Given the description of an element on the screen output the (x, y) to click on. 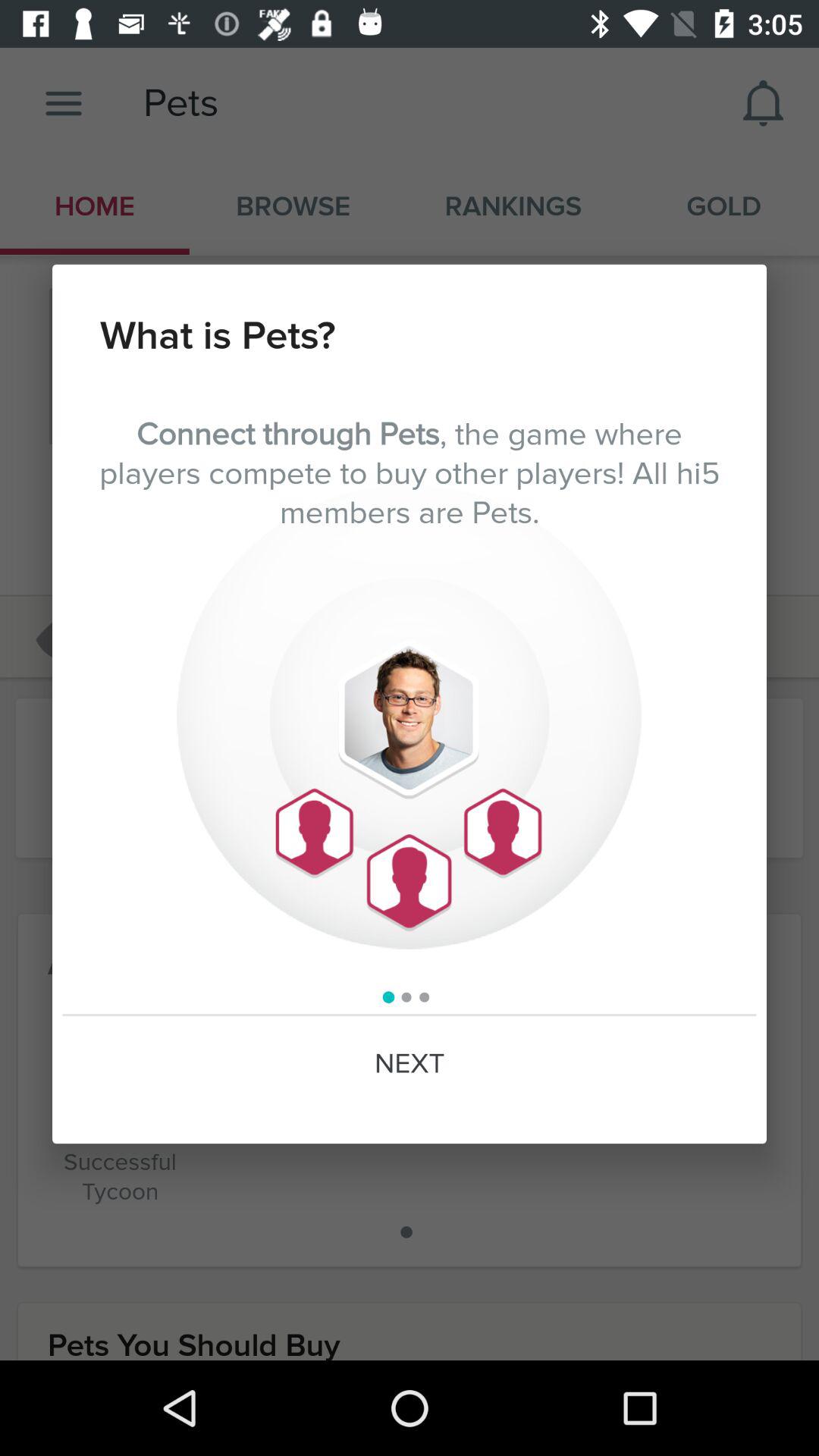
swipe to the next icon (409, 1063)
